Given the description of an element on the screen output the (x, y) to click on. 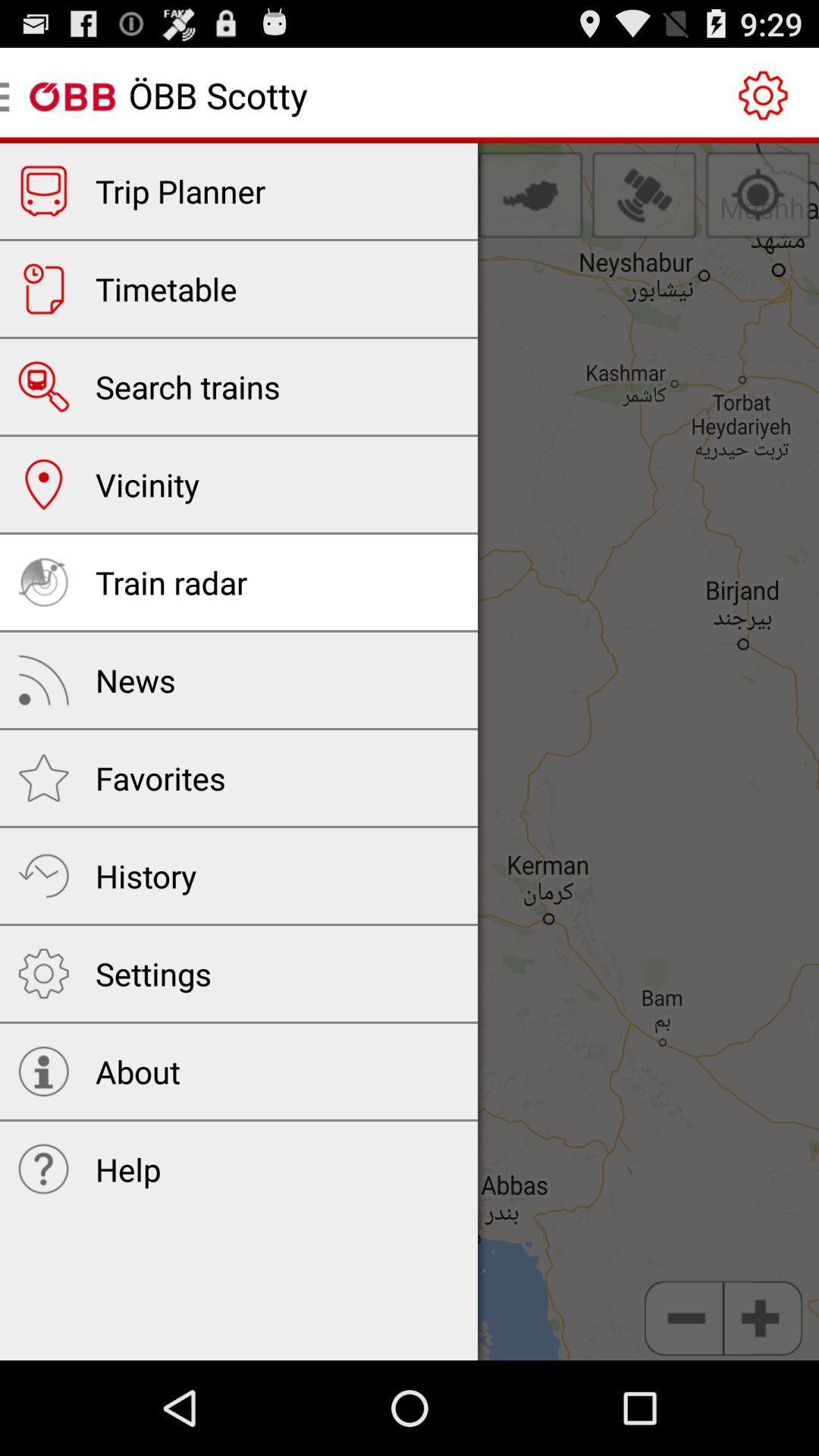
turn off vicinity item (147, 484)
